Given the description of an element on the screen output the (x, y) to click on. 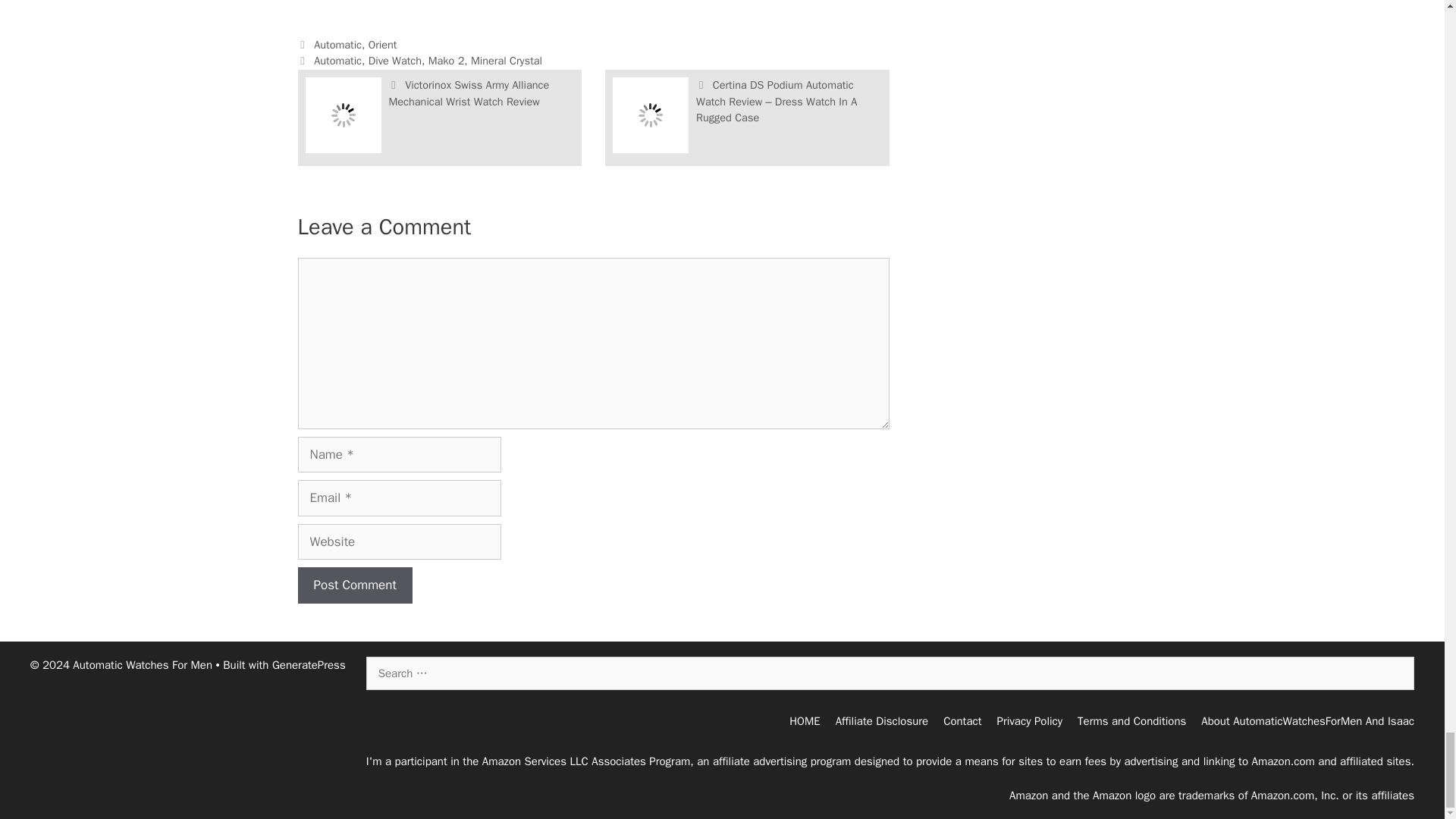
Next (776, 100)
Post Comment (354, 585)
Search for: (889, 673)
Previous (468, 92)
